Given the description of an element on the screen output the (x, y) to click on. 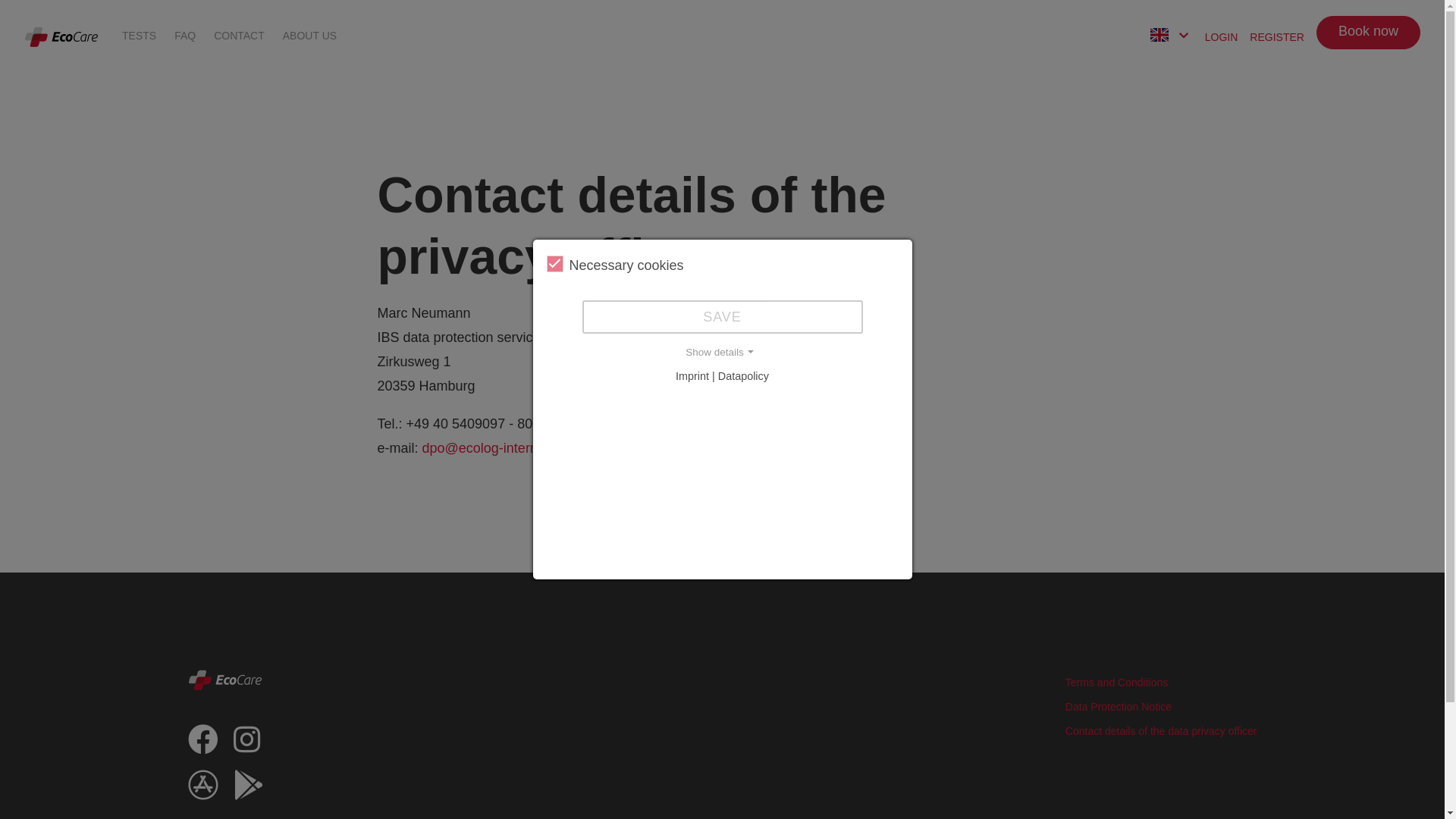
Contact details of the data privacy officer Element type: text (1161, 730)
EcoCare Instagram Element type: hover (246, 745)
EN Element type: hover (1159, 37)
Show details Element type: text (721, 352)
Terms and Conditions Element type: text (1116, 682)
dpo@ecolog-international.com Element type: text (514, 447)
Home Element type: hover (60, 36)
SAVE Element type: text (722, 316)
EcoCare Facebook Element type: hover (203, 745)
FAQ Element type: text (184, 35)
Data Protection Notice Element type: text (1118, 706)
EcoCare iOs App Element type: hover (203, 791)
TESTS Element type: text (139, 35)
REGISTER Element type: text (1276, 36)
LOGIN Element type: text (1221, 36)
EcoCare Android App Element type: hover (248, 791)
CONTACT Element type: text (238, 35)
Book now Element type: text (1368, 32)
ABOUT US Element type: text (309, 35)
